Given the description of an element on the screen output the (x, y) to click on. 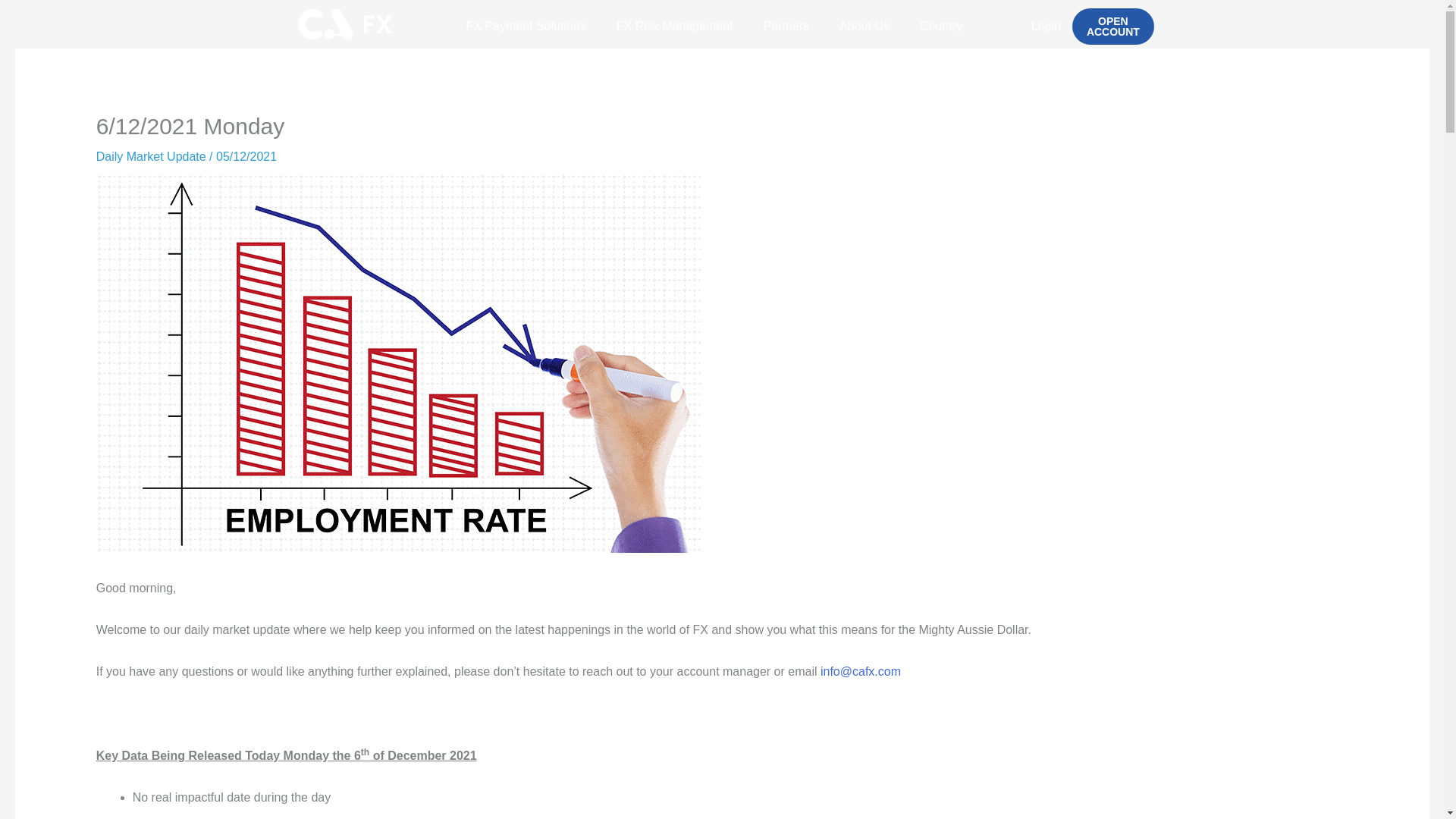
FX Payment Solutions (524, 26)
Country (940, 26)
Daily Market Update (151, 155)
Partners (786, 26)
Login (1045, 25)
FX Risk Management (674, 26)
About Us (864, 26)
OPEN ACCOUNT (1112, 26)
